Given the description of an element on the screen output the (x, y) to click on. 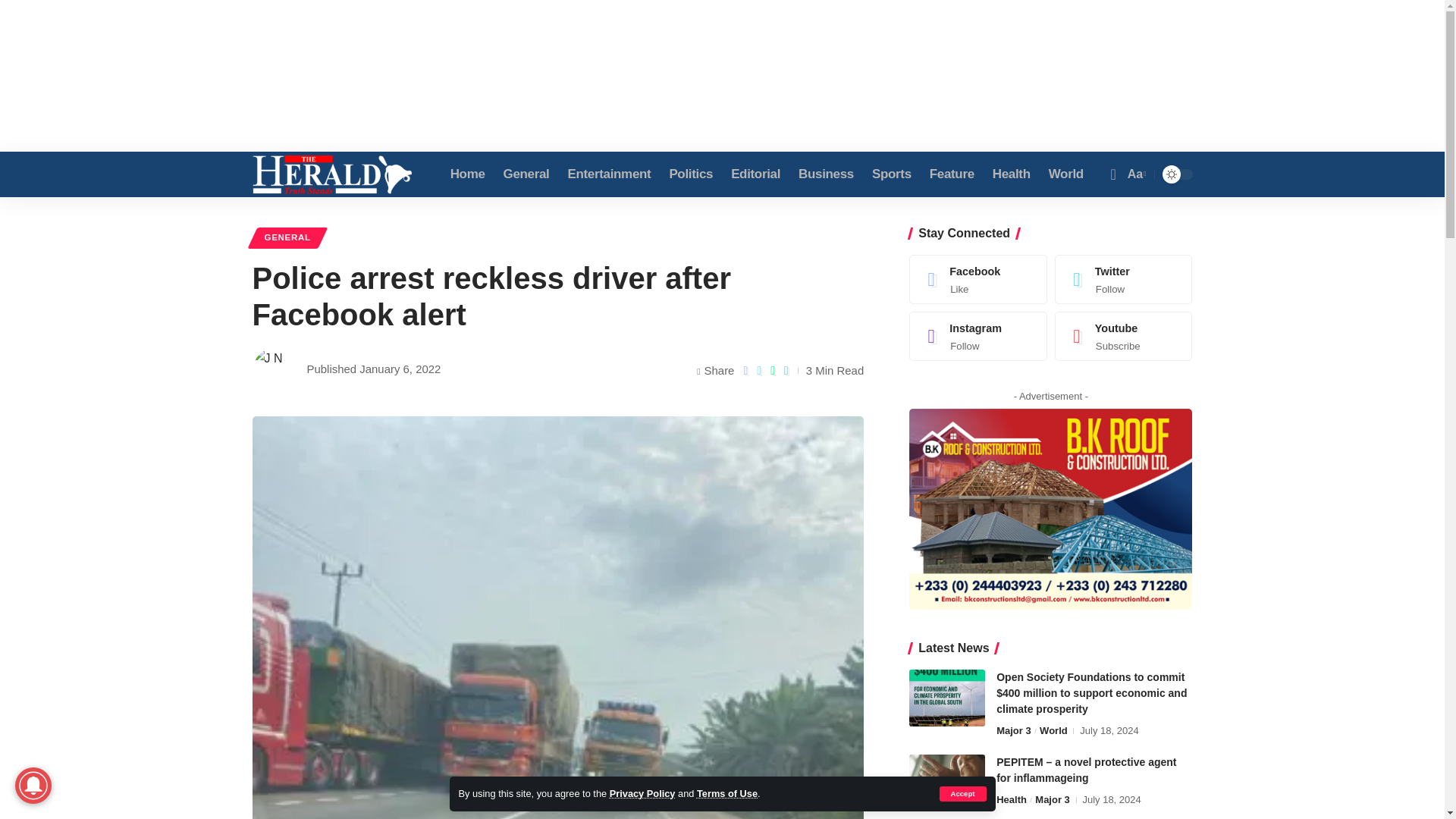
Business (826, 174)
Home (468, 174)
The Herald ghana (331, 174)
Politics (690, 174)
Terms of Use (727, 793)
Feature (952, 174)
Entertainment (608, 174)
Instagram (978, 335)
Twitter (1123, 278)
Youtube (1123, 335)
Editorial (755, 174)
Accept (962, 793)
Aa (1135, 173)
Sports (891, 174)
